Given the description of an element on the screen output the (x, y) to click on. 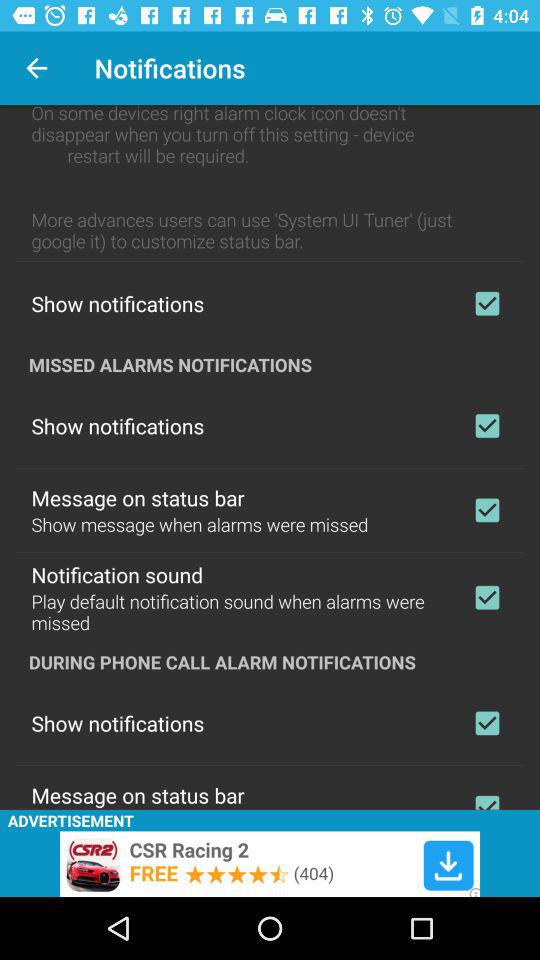
toggle notifications (487, 723)
